Given the description of an element on the screen output the (x, y) to click on. 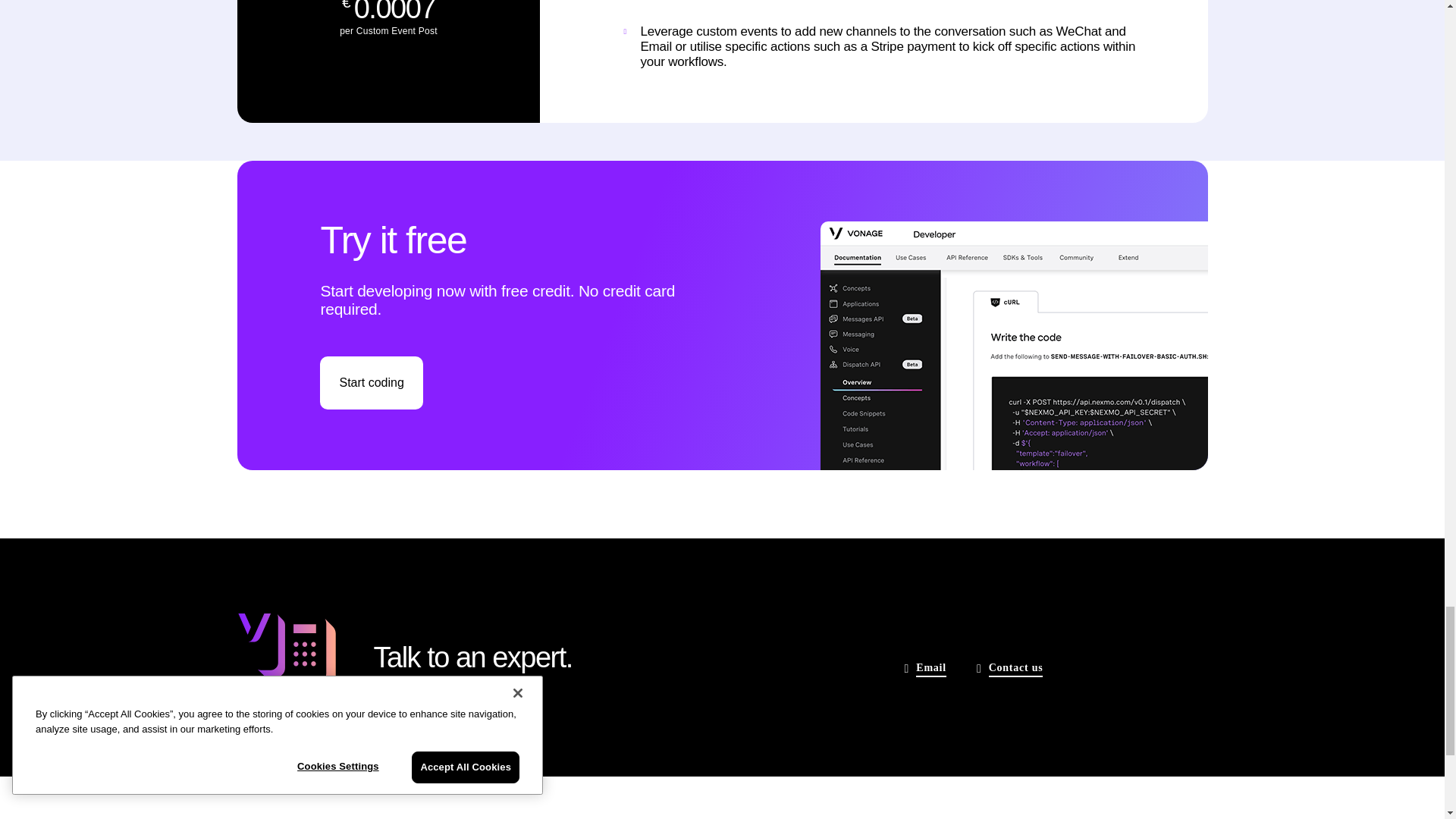
Vonage Phone (284, 655)
